Given the description of an element on the screen output the (x, y) to click on. 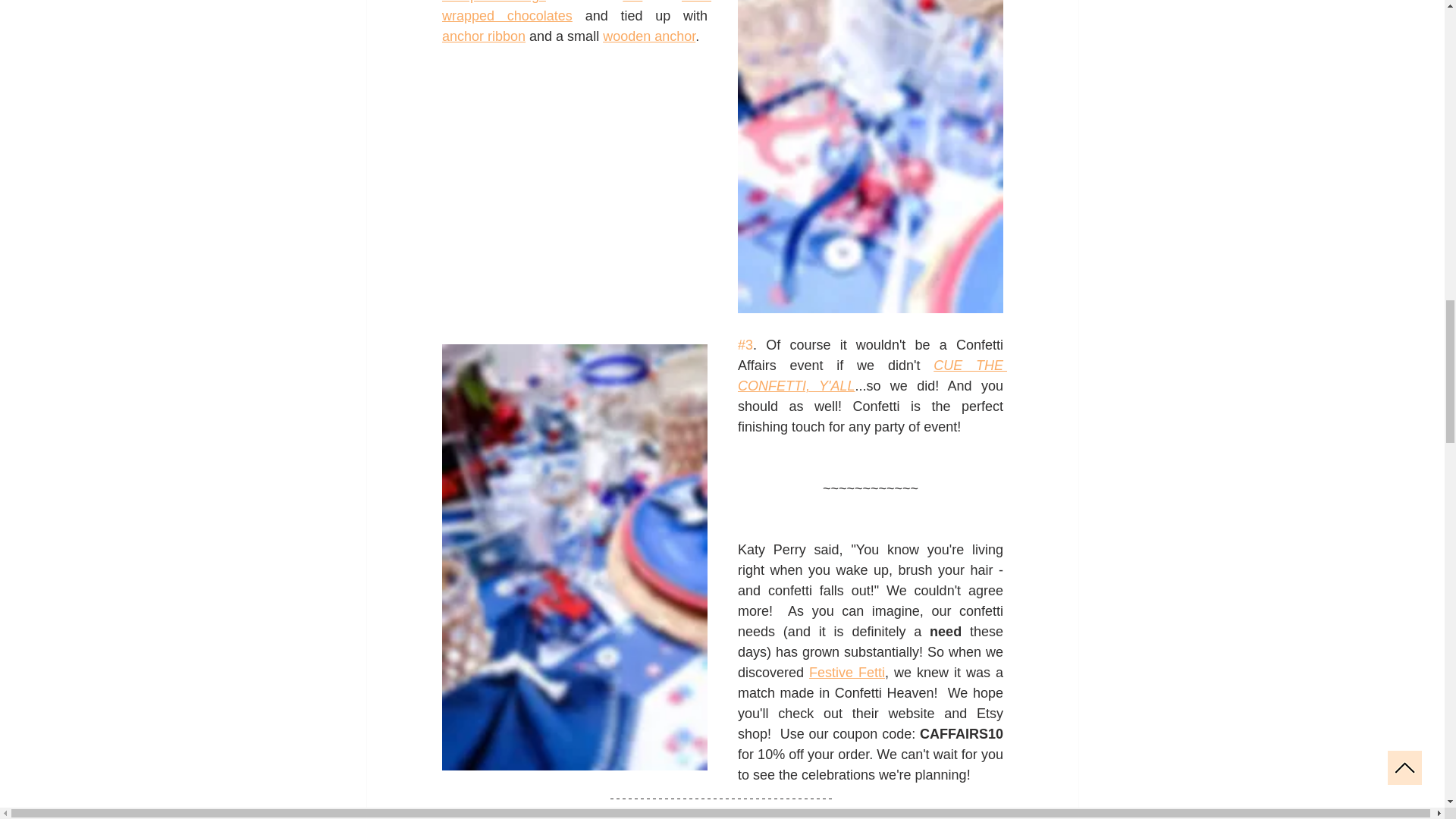
cellophane bags (492, 1)
wooden anchor (648, 36)
anchor ribbon (482, 36)
red (632, 1)
CUE THE CONFETTI, Y'ALL (871, 375)
blue wrapped chocolates (575, 11)
Festive Fetti (847, 672)
